Given the description of an element on the screen output the (x, y) to click on. 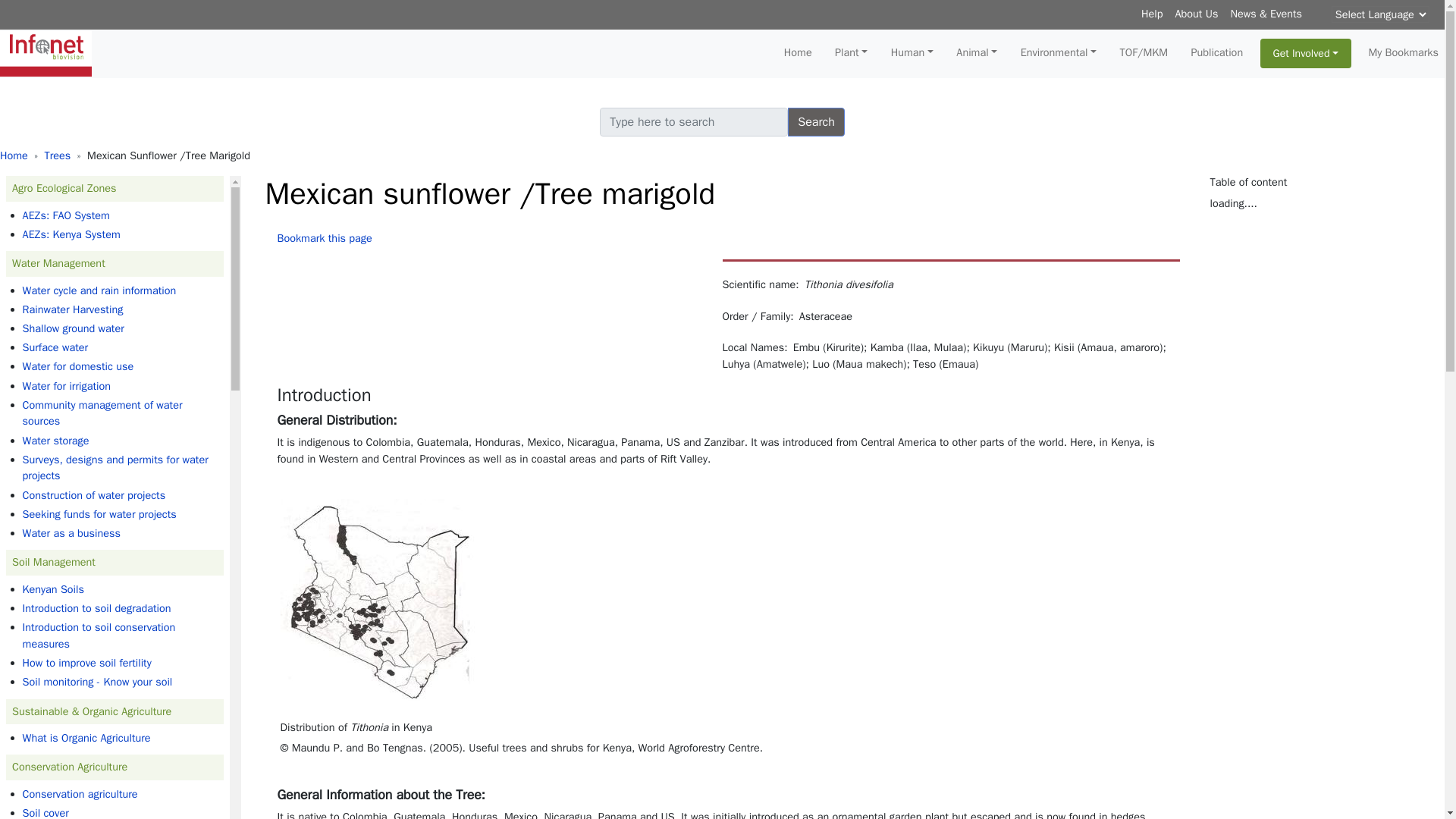
Expand menu Environmental (1058, 52)
Expand menu Human (912, 52)
Search (815, 121)
Add this page to your bookmarks (325, 237)
Expand menu Animal (976, 52)
Expand menu Plant (850, 52)
Expand menu Get Involved (1305, 52)
Home (51, 53)
